Given the description of an element on the screen output the (x, y) to click on. 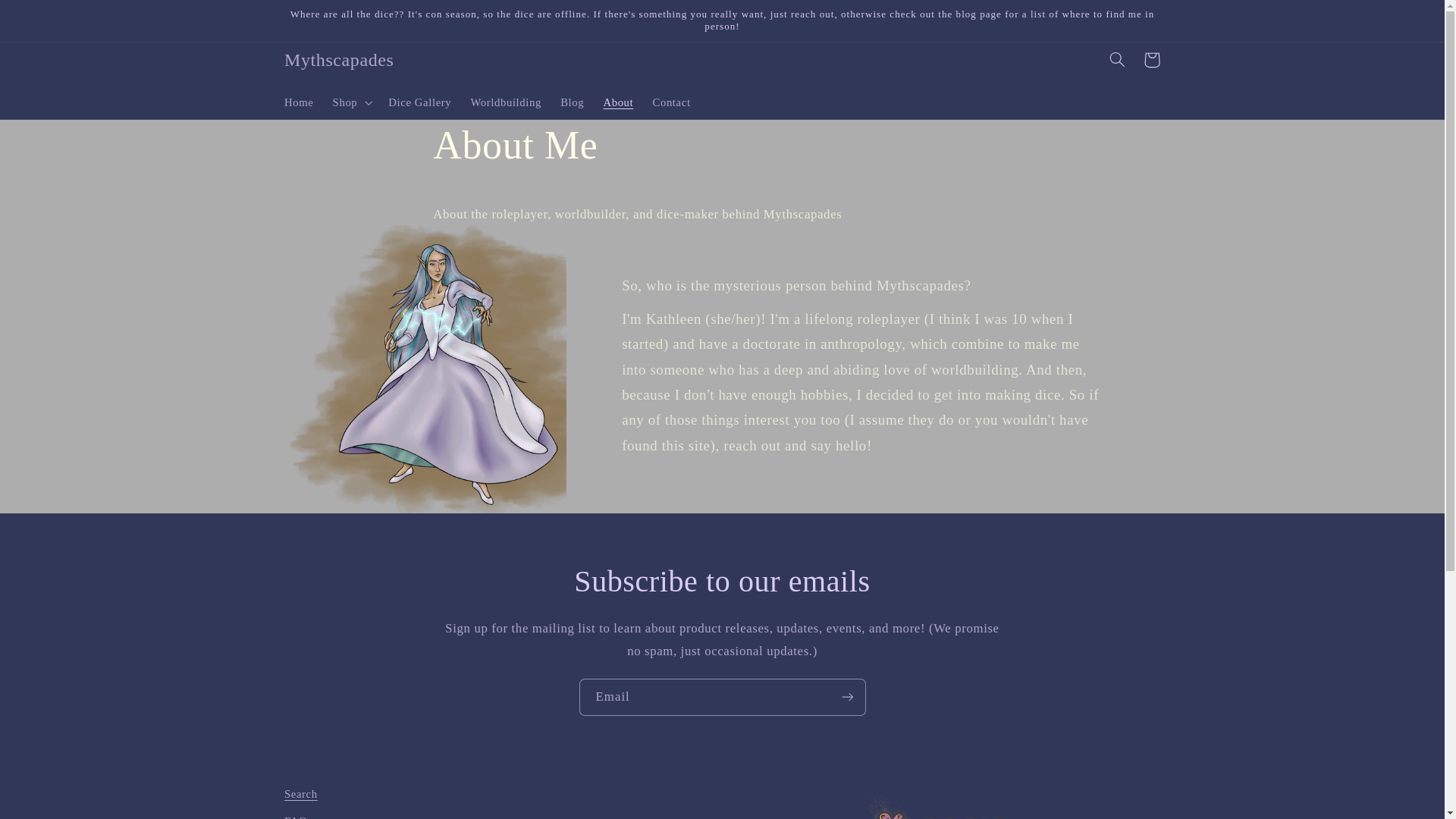
Mythscapades (338, 60)
Skip to content (48, 18)
Home (299, 101)
Cart (1151, 59)
About (618, 101)
Dice Gallery (419, 101)
Blog (572, 101)
Worldbuilding (506, 101)
Contact (671, 101)
